Given the description of an element on the screen output the (x, y) to click on. 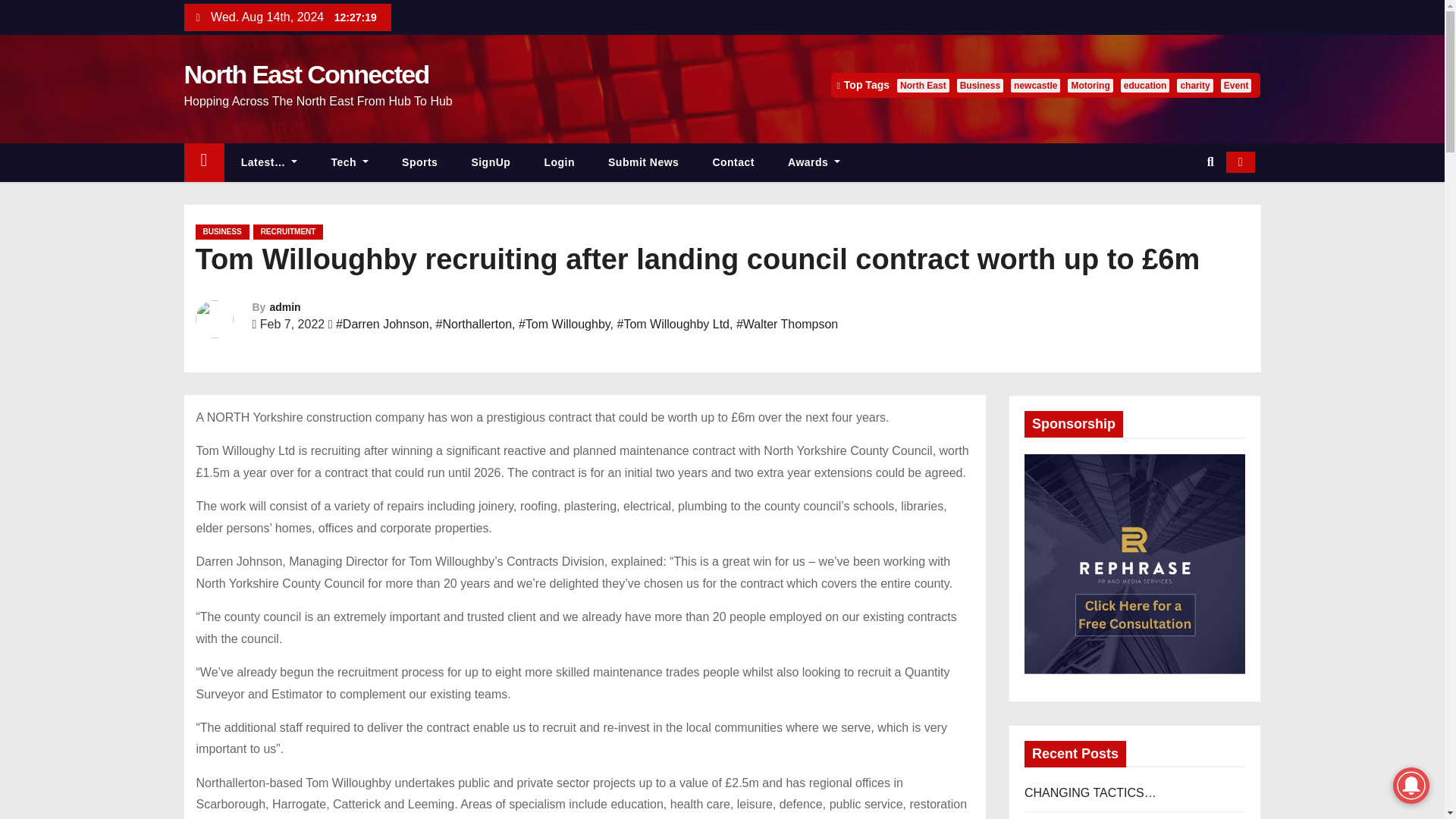
SignUp (490, 162)
Event (1236, 85)
Tech (349, 162)
Business (979, 85)
North East (922, 85)
Sports (419, 162)
Submit News (643, 162)
SignUp (490, 162)
North East Connected (305, 73)
admin (284, 306)
